Given the description of an element on the screen output the (x, y) to click on. 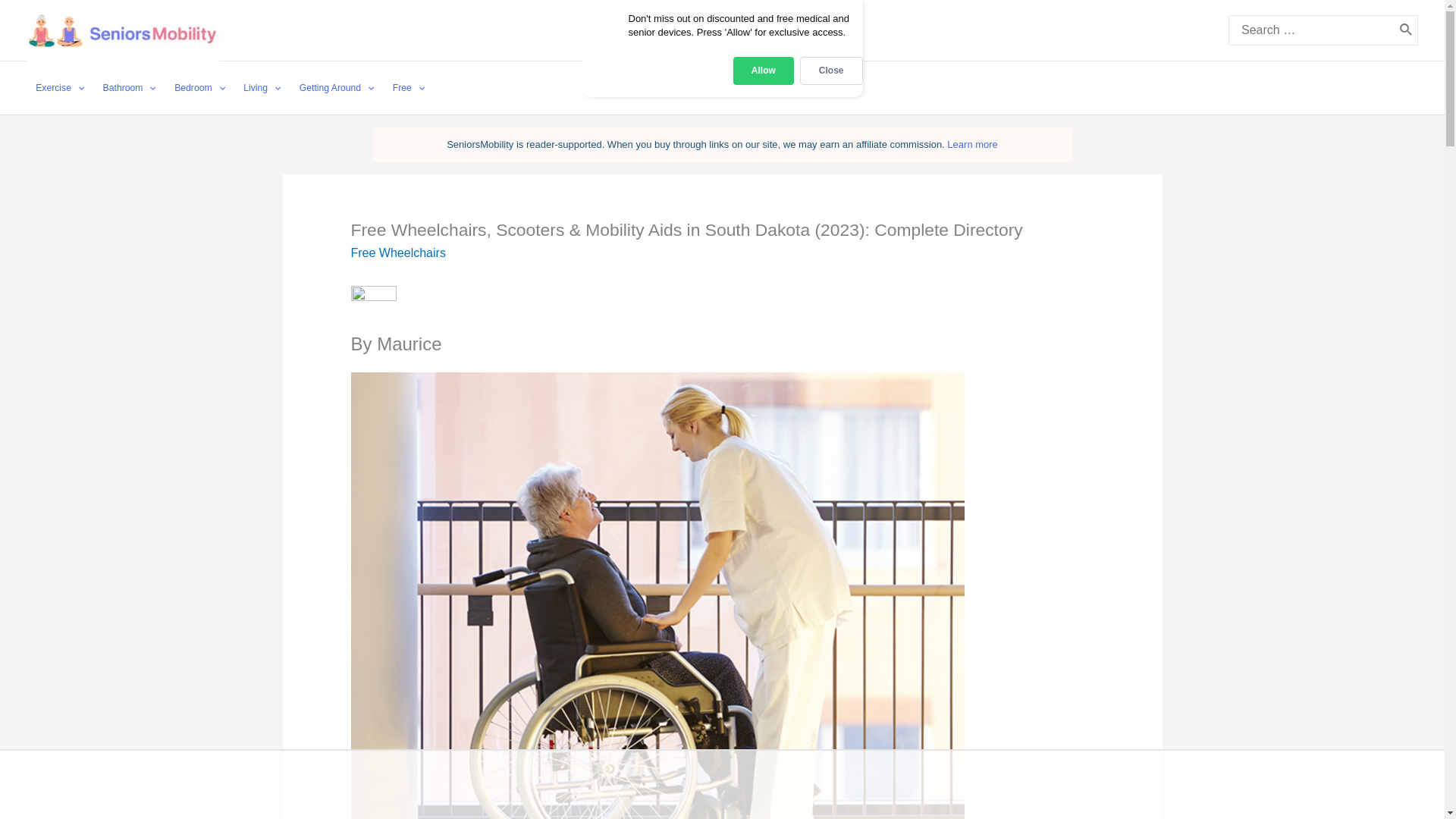
Bathroom (129, 87)
Bedroom (199, 87)
Exercise (59, 87)
Living (261, 87)
Getting Around (336, 87)
Free (408, 87)
